Given the description of an element on the screen output the (x, y) to click on. 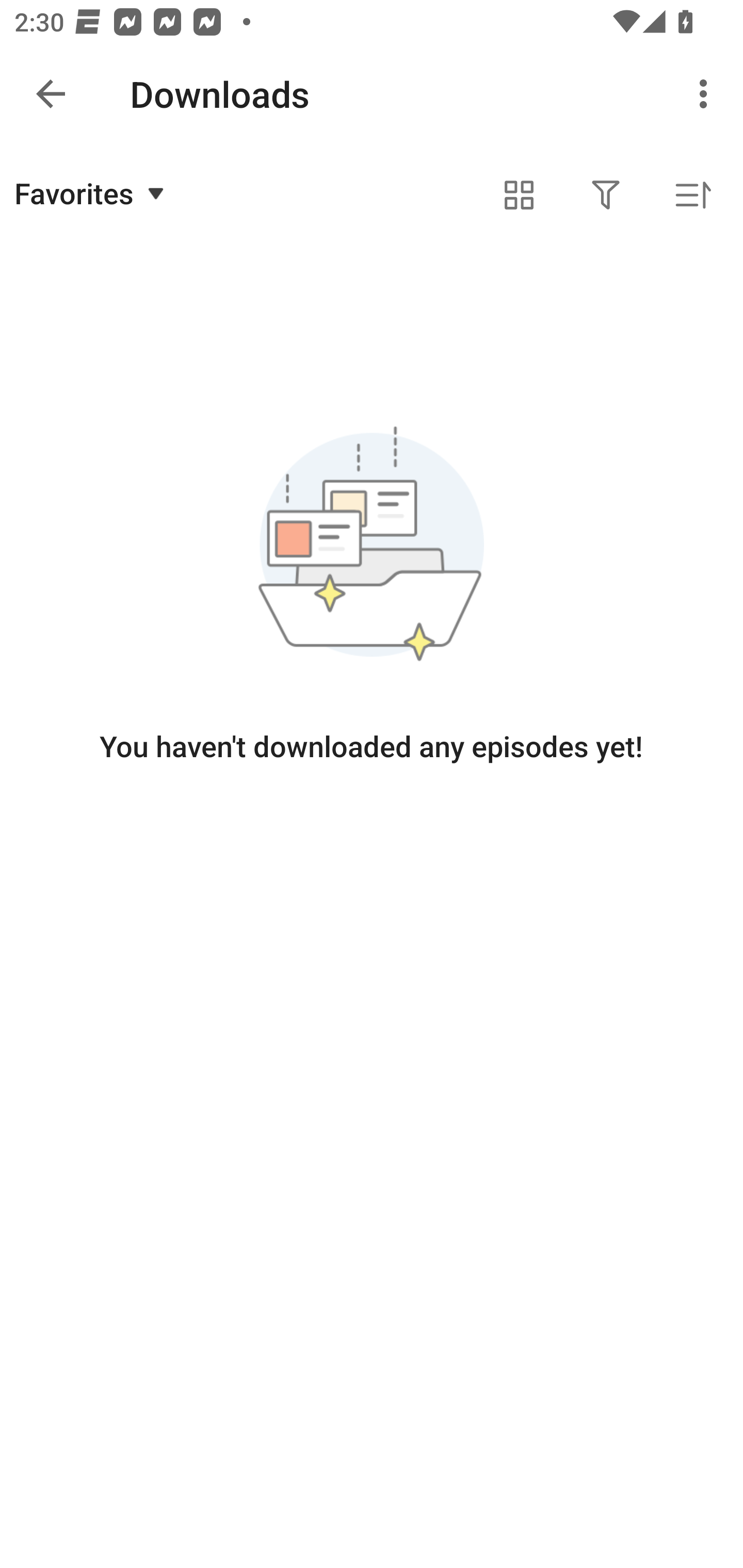
Navigate up (50, 93)
More options (706, 93)
Favorites (92, 192)
 (518, 195)
 (605, 195)
 Sorted by oldest first (692, 195)
